Given the description of an element on the screen output the (x, y) to click on. 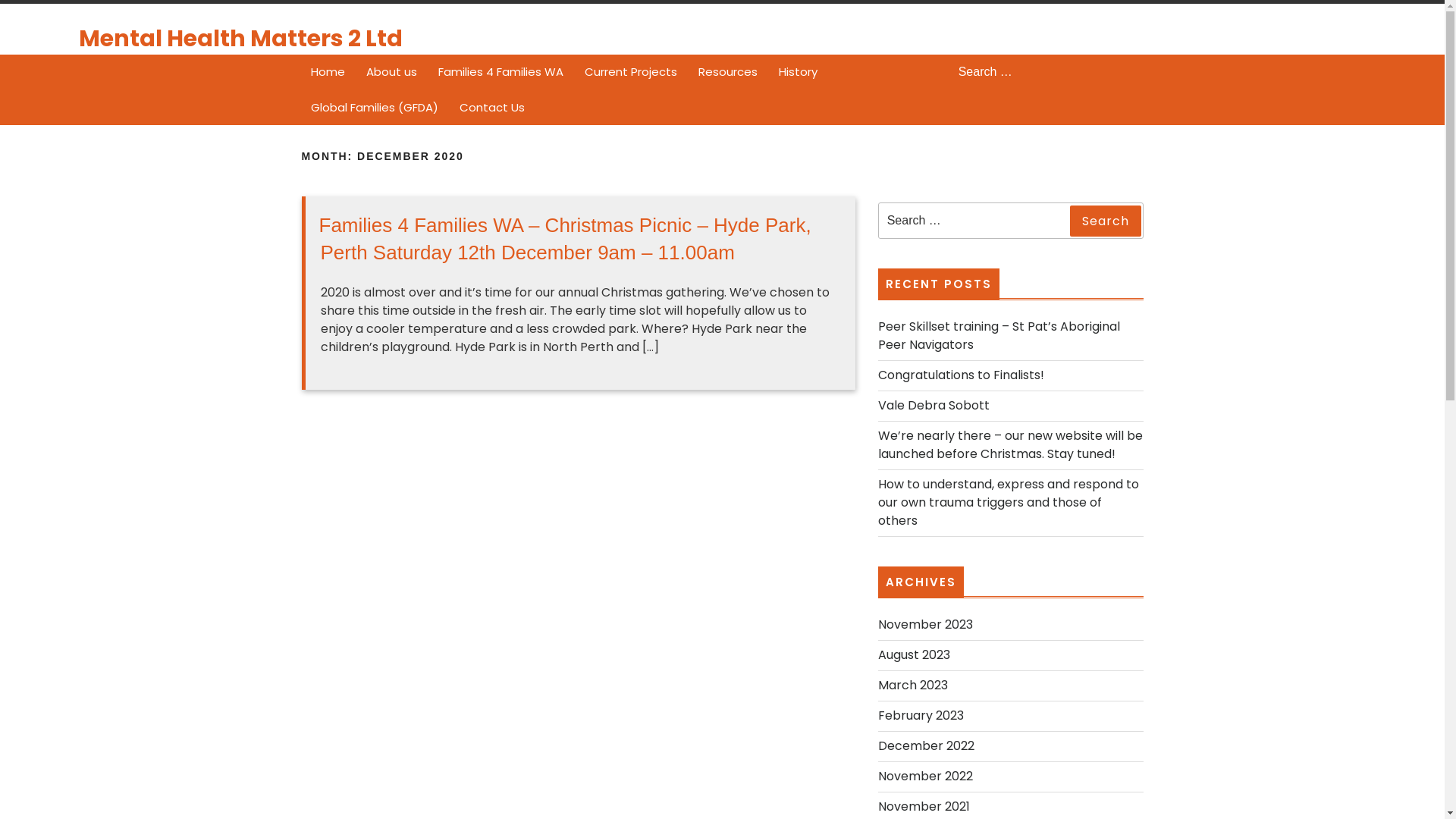
February 2023 Element type: text (920, 715)
March 2023 Element type: text (912, 684)
Global Families (GFDA) Element type: text (374, 107)
Search Element type: text (1132, 72)
Search Element type: text (1104, 221)
November 2022 Element type: text (925, 775)
Vale Debra Sobott Element type: text (933, 405)
Home Element type: text (327, 72)
December 2022 Element type: text (926, 745)
November 2023 Element type: text (925, 624)
Mental Health Matters 2 Ltd Element type: text (240, 38)
Contact Us Element type: text (491, 107)
Congratulations to Finalists! Element type: text (961, 374)
History Element type: text (796, 72)
Current Projects Element type: text (629, 72)
August 2023 Element type: text (914, 654)
About us Element type: text (390, 72)
Families 4 Families WA Element type: text (500, 72)
November 2021 Element type: text (923, 806)
Resources Element type: text (726, 72)
